Given the description of an element on the screen output the (x, y) to click on. 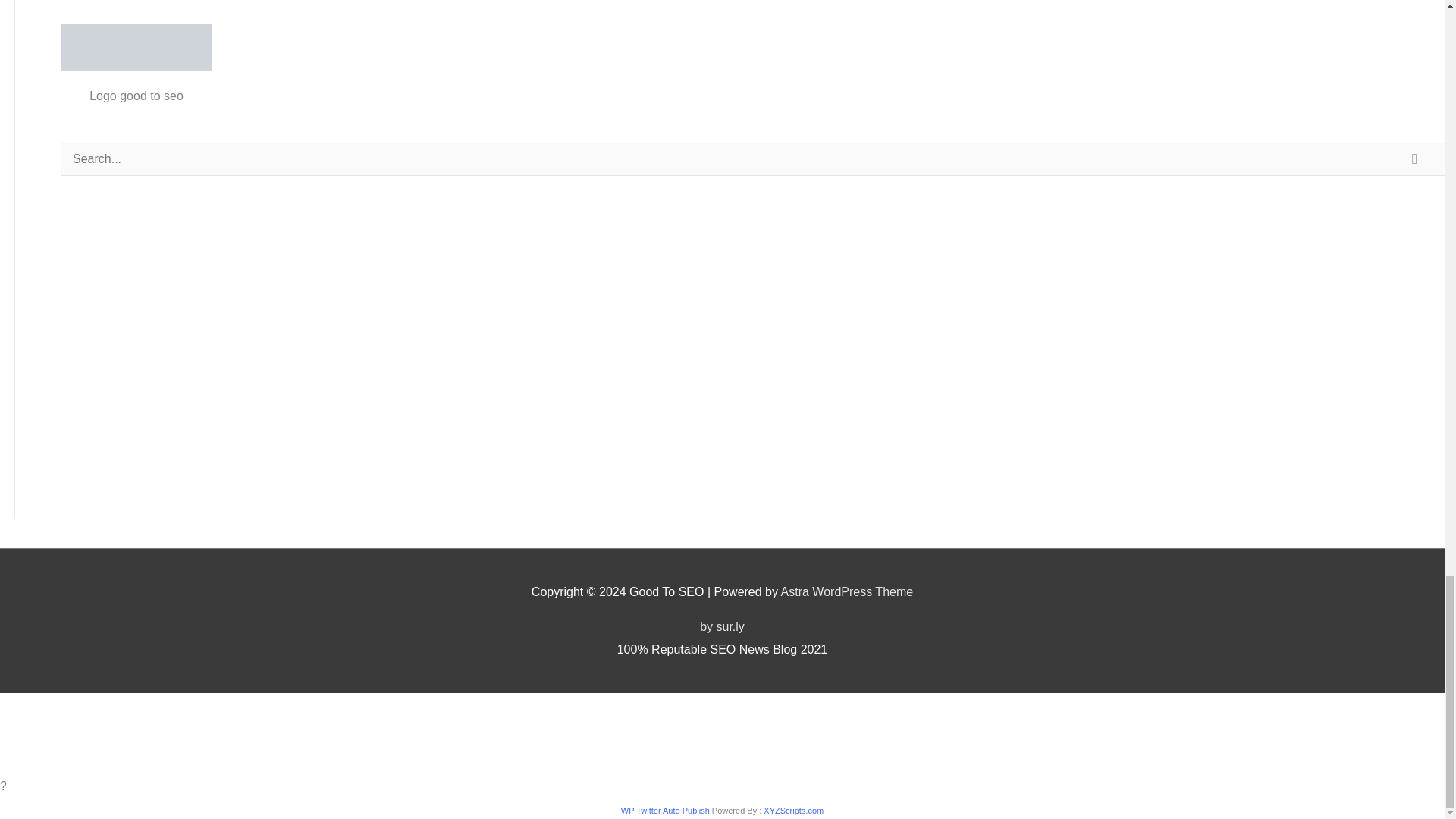
XYZScripts.com (793, 809)
by sur.ly (722, 626)
Astra WordPress Theme (847, 591)
All SEO Blogs In One Place (136, 47)
WP Twitter Auto Publish (665, 809)
WP Twitter Auto Publish (665, 809)
